Given the description of an element on the screen output the (x, y) to click on. 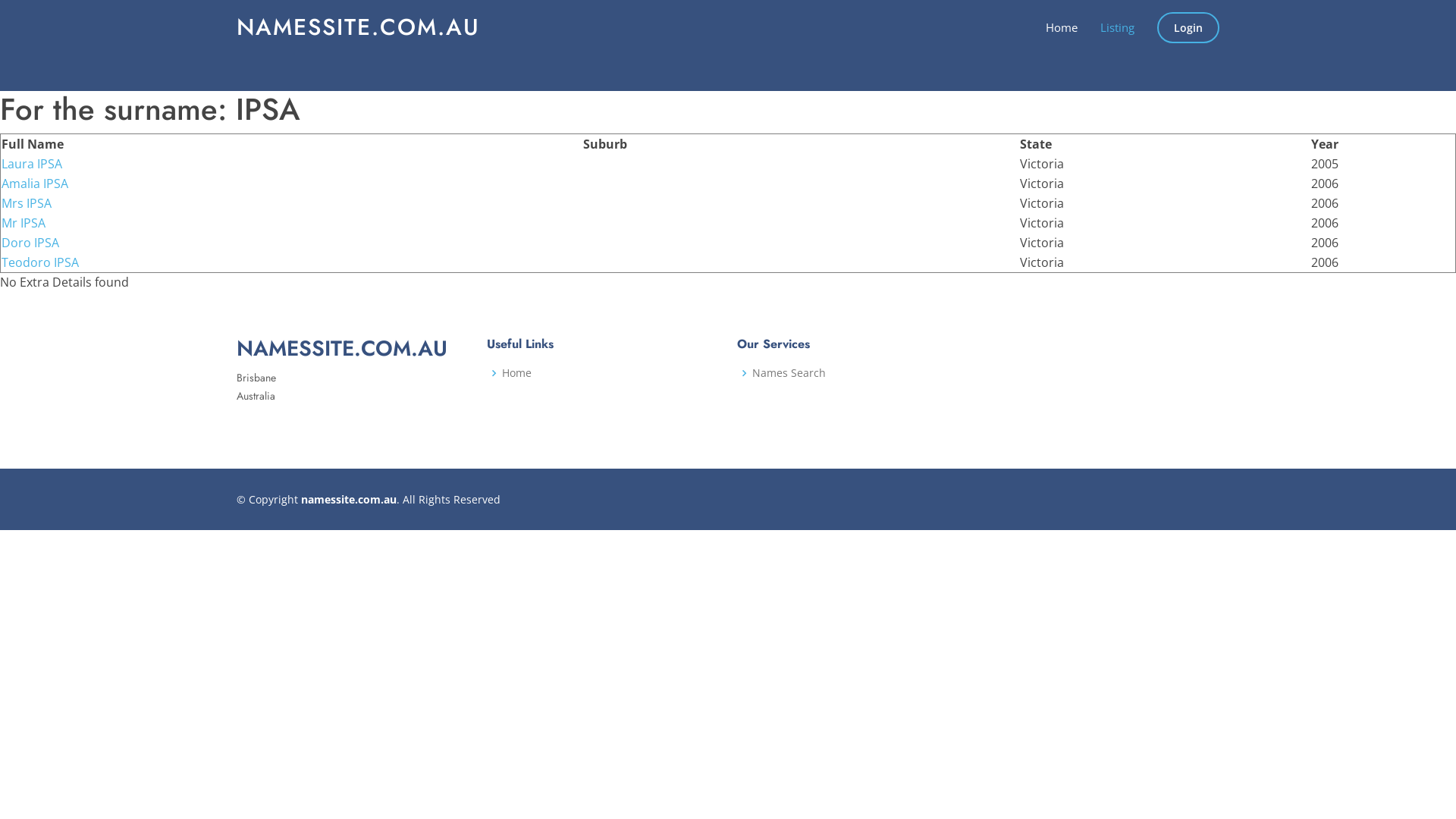
Login Element type: text (1188, 27)
Amalia IPSA Element type: text (34, 183)
Names Search Element type: text (788, 372)
Laura IPSA Element type: text (31, 163)
Doro IPSA Element type: text (30, 242)
Home Element type: text (1049, 27)
Mrs IPSA Element type: text (26, 202)
NAMESSITE.COM.AU Element type: text (358, 26)
Mr IPSA Element type: text (23, 222)
Teodoro IPSA Element type: text (39, 262)
Home Element type: text (516, 372)
Listing Element type: text (1105, 27)
